Given the description of an element on the screen output the (x, y) to click on. 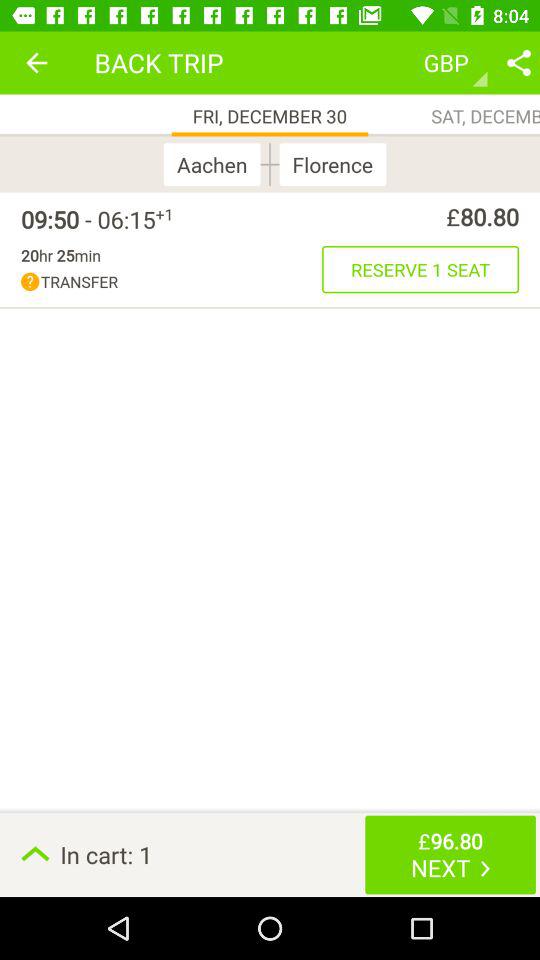
click the icon below the 20hr 25min (171, 281)
